Given the description of an element on the screen output the (x, y) to click on. 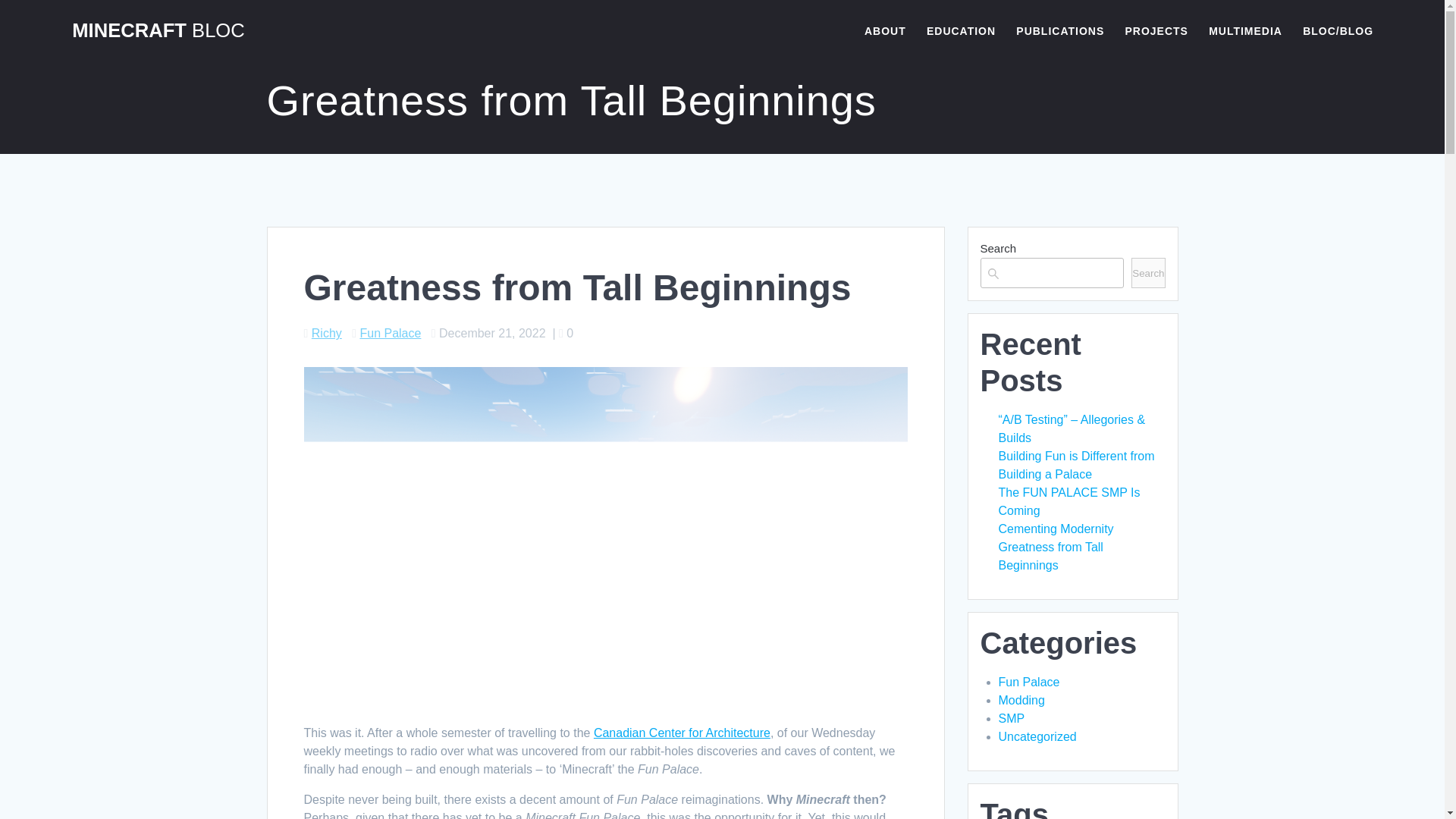
PUBLICATIONS (1059, 30)
Fun Palace (389, 332)
MULTIMEDIA (1245, 30)
EDUCATION (960, 30)
Posts by Richy (326, 332)
PROJECTS (1156, 30)
Richy (326, 332)
MINECRAFT BLOC (157, 30)
Canadian Center for Architecture (682, 732)
ABOUT (884, 30)
